Given the description of an element on the screen output the (x, y) to click on. 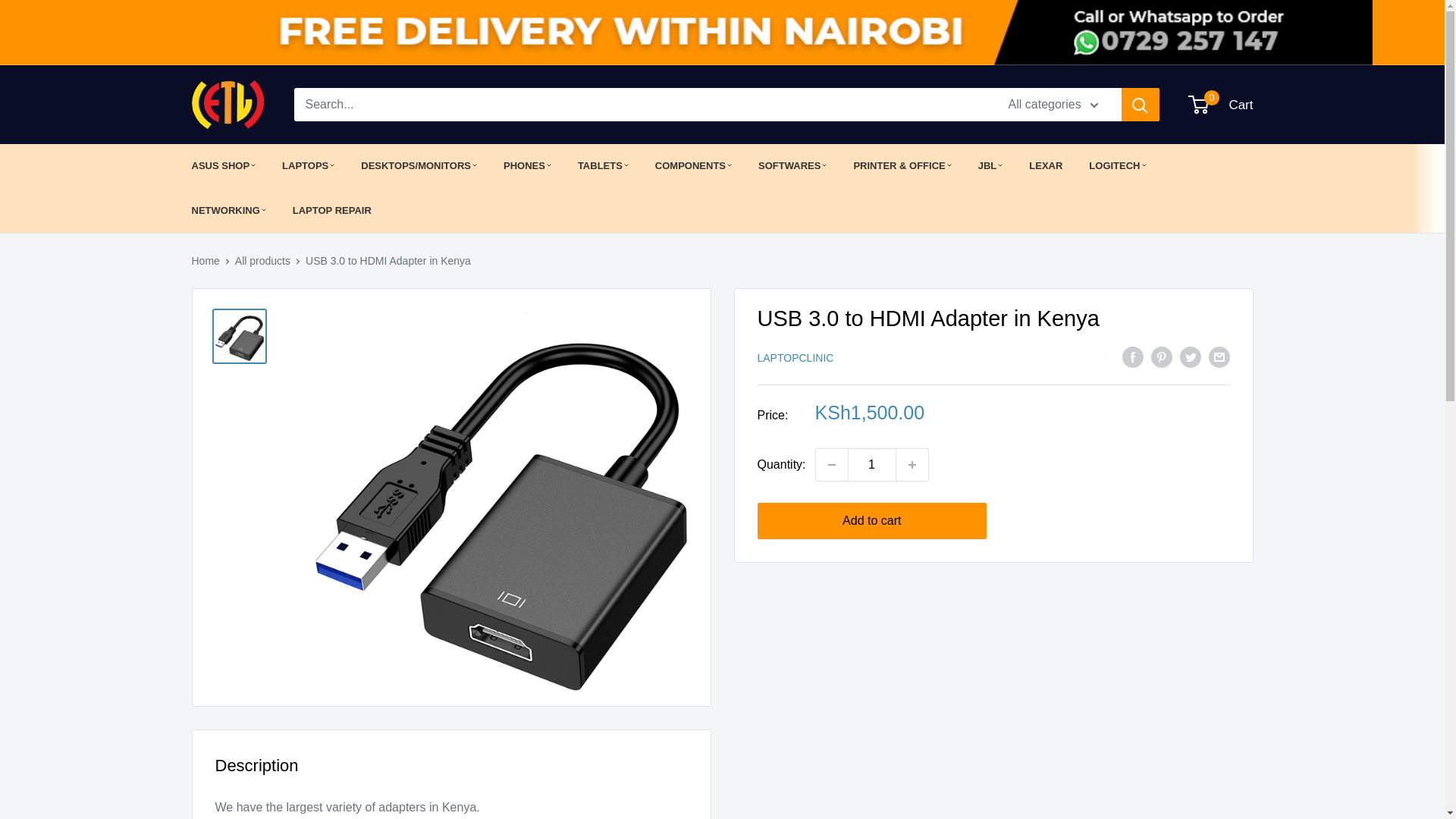
Increase quantity by 1 (912, 464)
1 (871, 464)
Decrease quantity by 1 (831, 464)
